Given the description of an element on the screen output the (x, y) to click on. 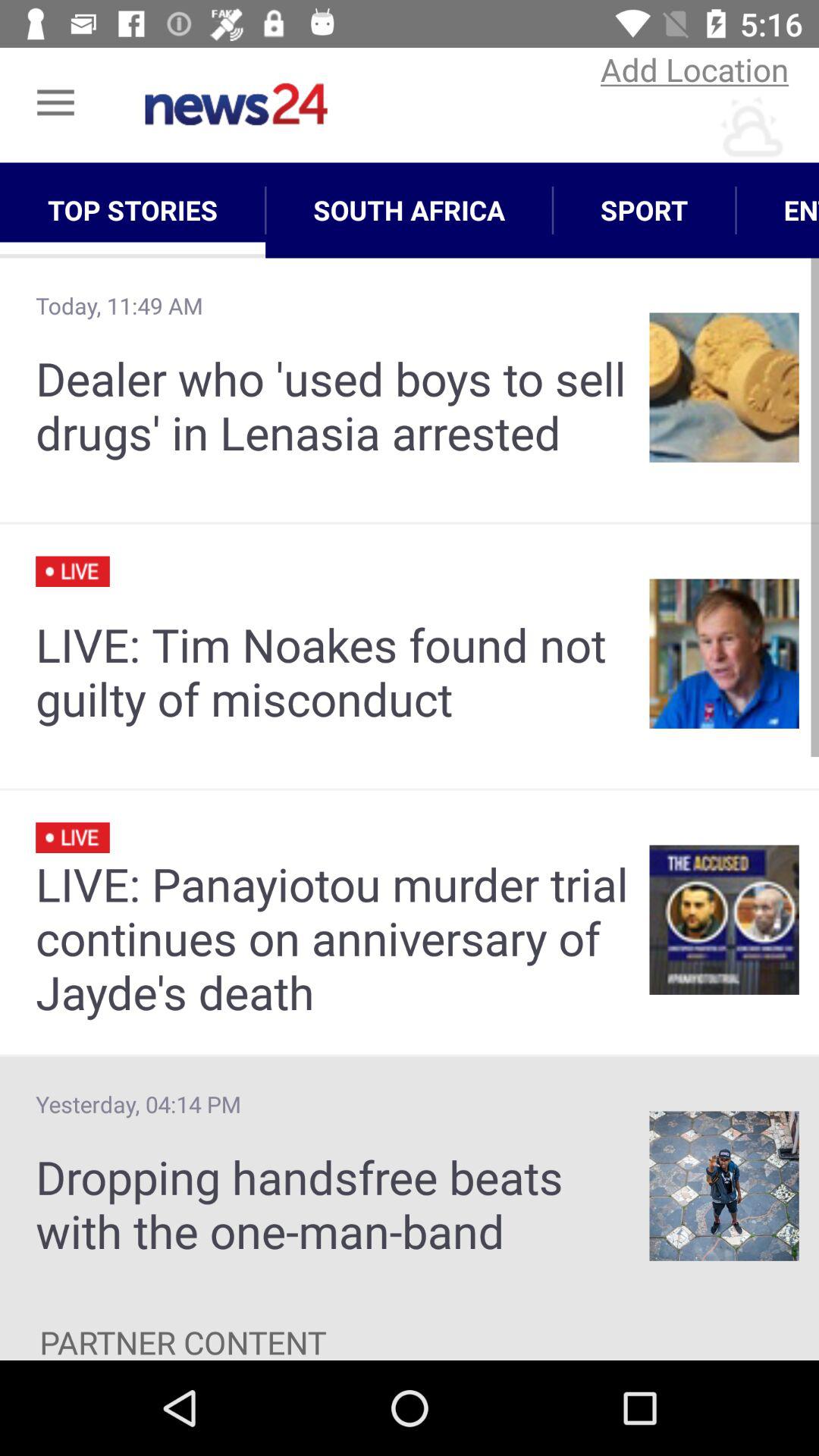
select the icon to the left of entertainment (643, 210)
